Given the description of an element on the screen output the (x, y) to click on. 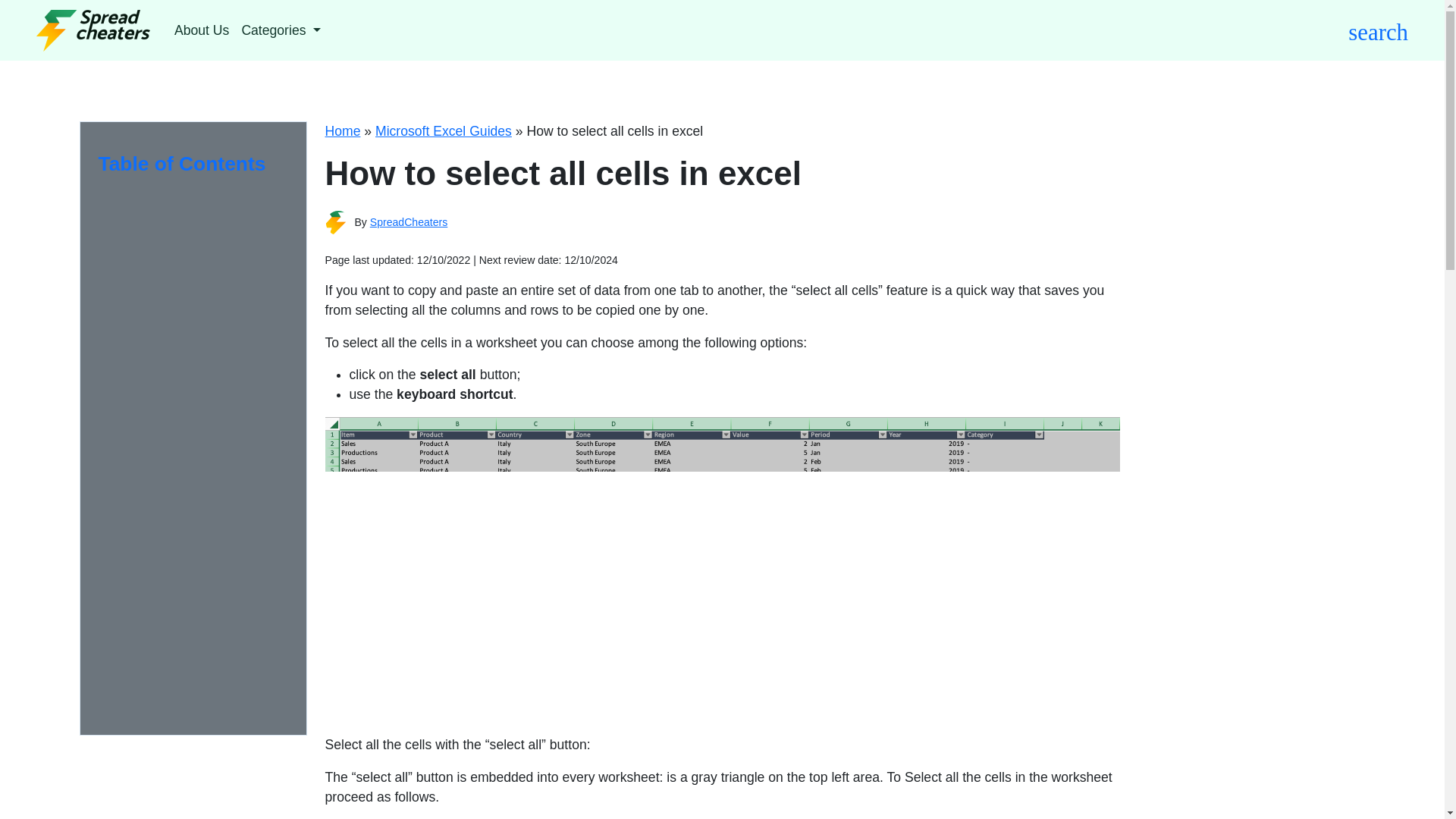
SpreadCheaters (408, 222)
Search (901, 94)
Microsoft Excel Guides (443, 130)
Categories (280, 29)
Home (341, 130)
search (1377, 30)
About Us (201, 29)
